Given the description of an element on the screen output the (x, y) to click on. 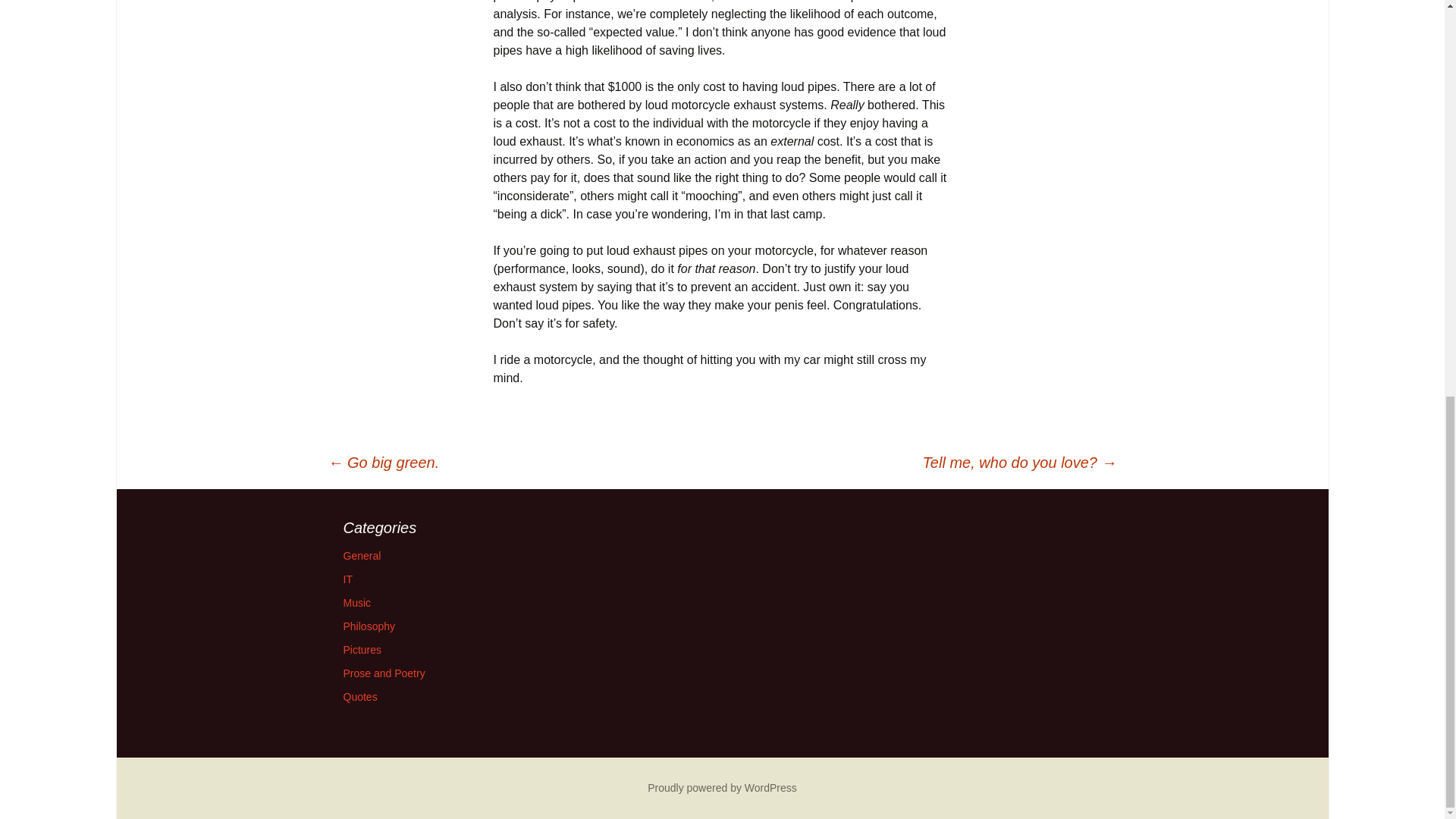
Prose and Poetry (383, 673)
Quotes (359, 696)
General (361, 555)
Pictures (361, 649)
Music (356, 603)
Philosophy (368, 625)
Proudly powered by WordPress (721, 787)
